Given the description of an element on the screen output the (x, y) to click on. 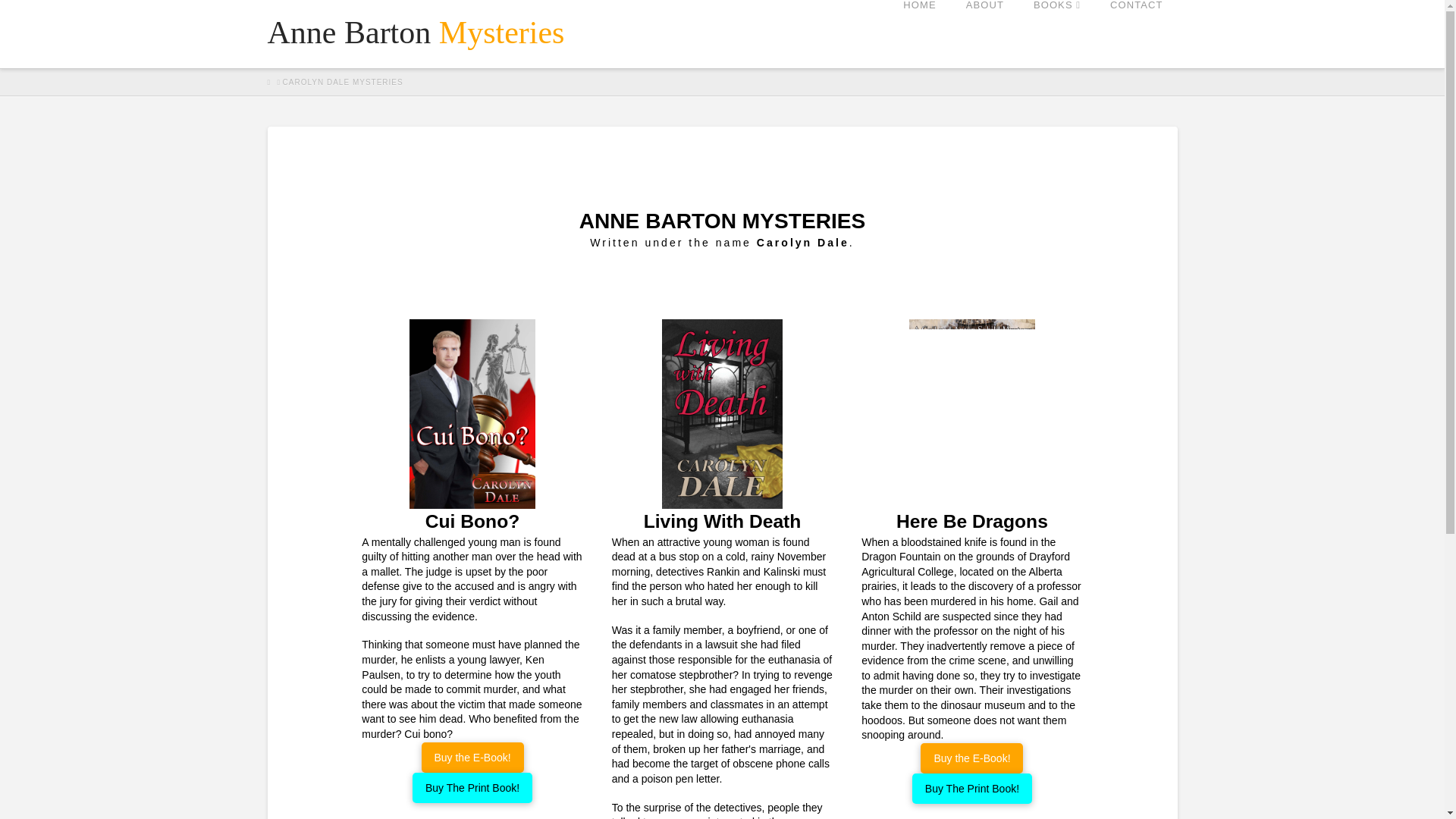
ABOUT (983, 33)
Buy The Print Book! (472, 788)
You Are Here (342, 81)
CAROLYN DALE MYSTERIES (342, 81)
CONTACT (1135, 33)
HOME (919, 33)
Buy the E-Book! (971, 757)
Buy the E-Book! (473, 757)
Anne Barton Mysteries (415, 32)
Buy The Print Book! (972, 788)
BOOKS (1055, 33)
